Given the description of an element on the screen output the (x, y) to click on. 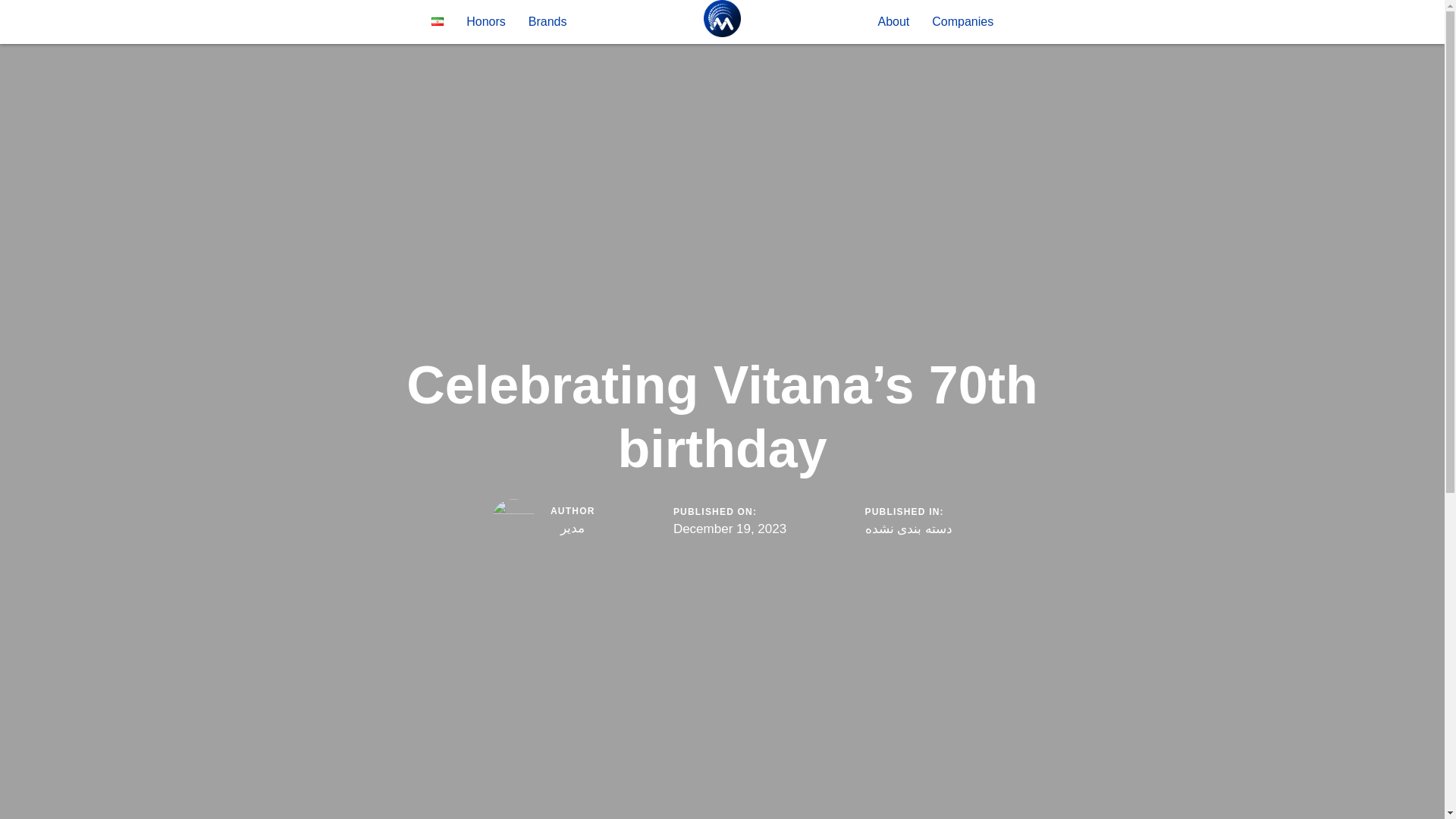
Honors (485, 22)
December 19, 2023 (729, 528)
About (893, 22)
Companies (962, 22)
Brands (547, 22)
